Given the description of an element on the screen output the (x, y) to click on. 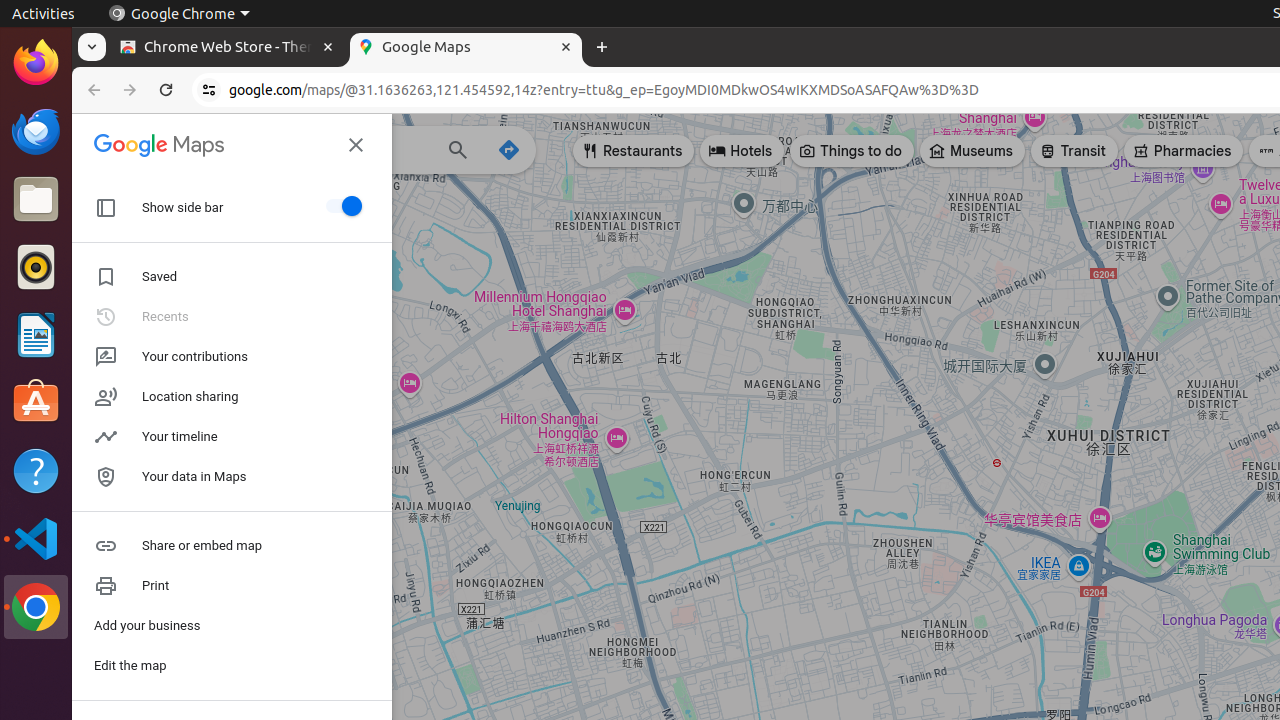
Print Element type: menu-item (232, 586)
